Given the description of an element on the screen output the (x, y) to click on. 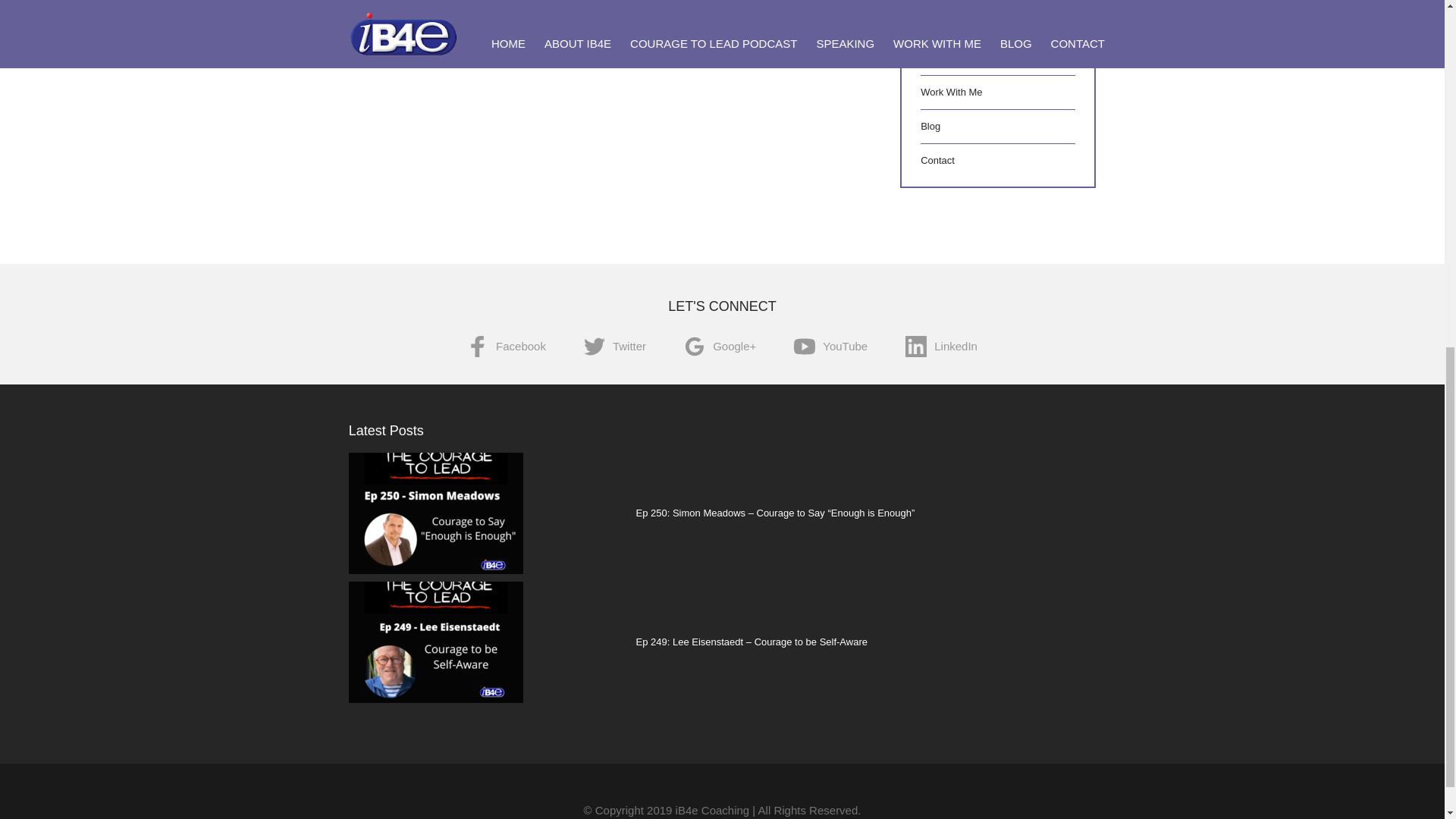
Courage to Lead Podcast (976, 23)
Work With Me (950, 91)
LinkedIn (940, 347)
Blog (930, 125)
Twitter (614, 347)
YouTube (830, 347)
Speaking (940, 57)
Contact (937, 160)
Facebook (506, 347)
